Given the description of an element on the screen output the (x, y) to click on. 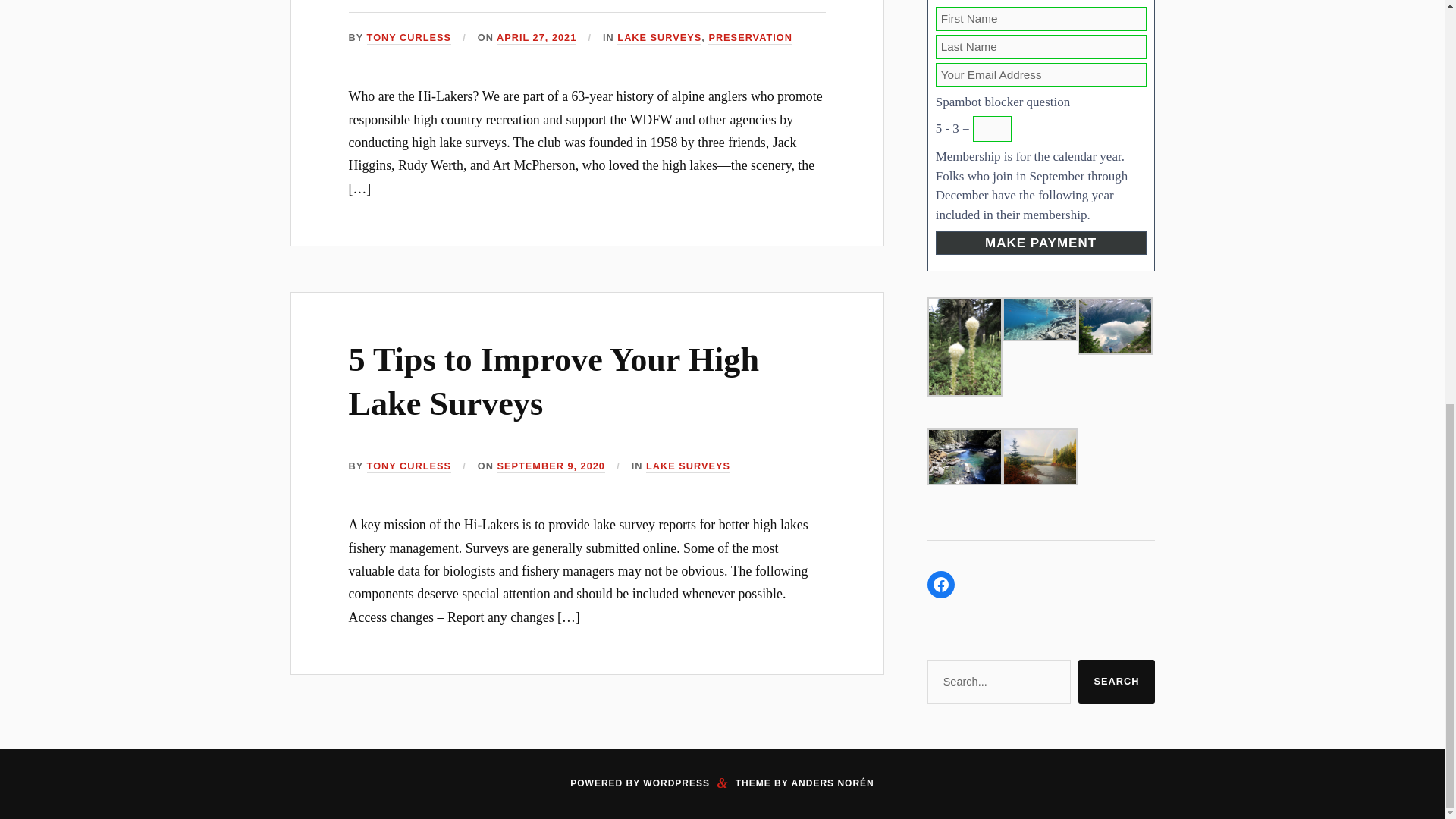
5 Tips to Improve Your High Lake Surveys (553, 381)
TONY CURLESS (408, 38)
LAKE SURVEYS (659, 38)
APRIL 27, 2021 (536, 38)
Posts by Tony Curless (408, 38)
Posts by Tony Curless (408, 466)
PRESERVATION (749, 38)
Make Payment (1041, 242)
